Given the description of an element on the screen output the (x, y) to click on. 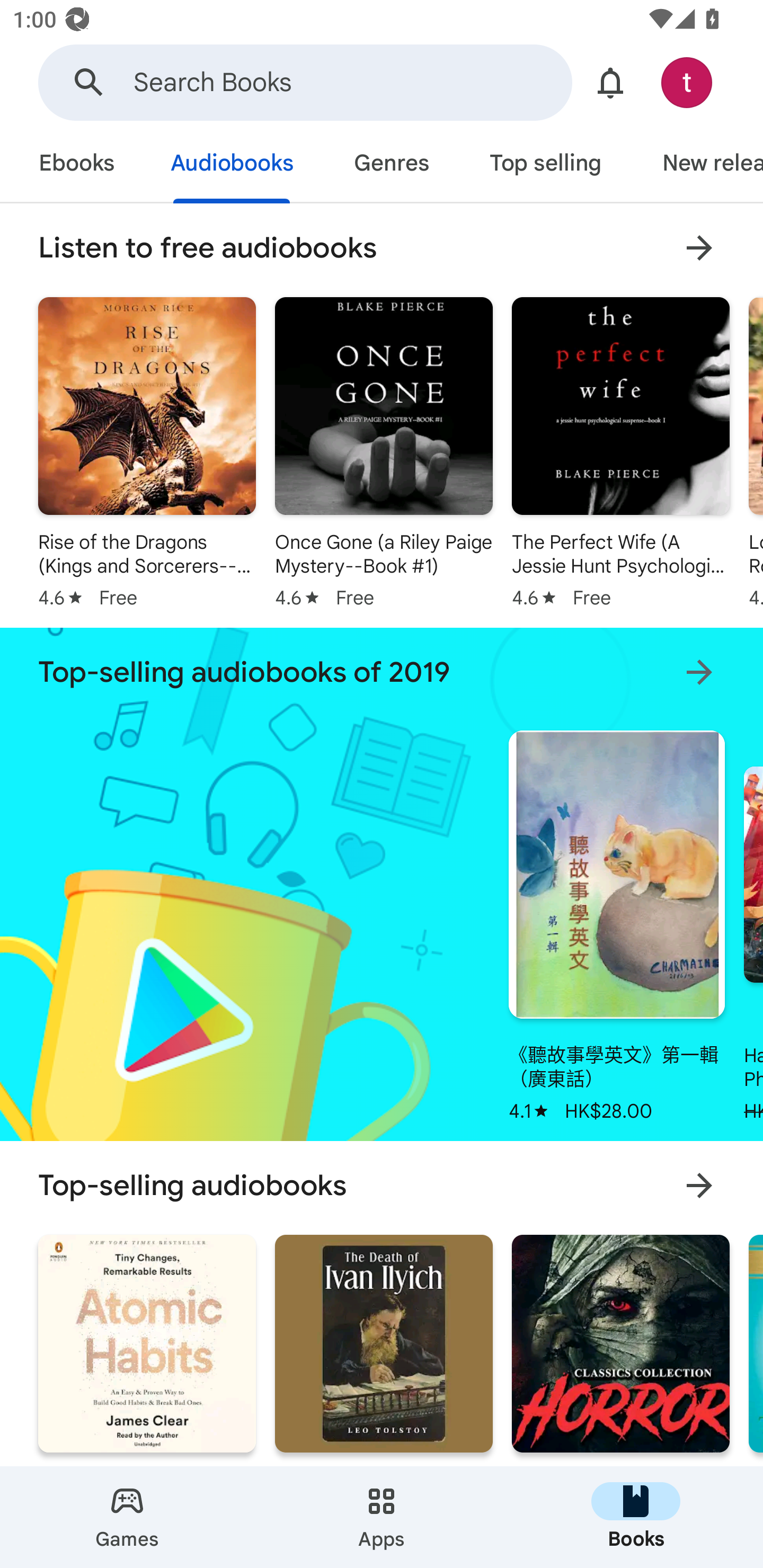
Search Google Play Search Books (305, 81)
Search Google Play (89, 81)
Show notifications and offers. (610, 81)
Ebooks (75, 165)
Genres (390, 165)
Top selling (544, 165)
More results for Listen to free audiobooks (699, 247)
More results for Top-selling audiobooks of 2019 (699, 671)
《聽故事學英文》第一輯（廣東話）
Star rating: 4.1
HK$28.00
 (616, 919)
More results for Top-selling audiobooks (699, 1185)
Games (127, 1517)
Apps (381, 1517)
